Given the description of an element on the screen output the (x, y) to click on. 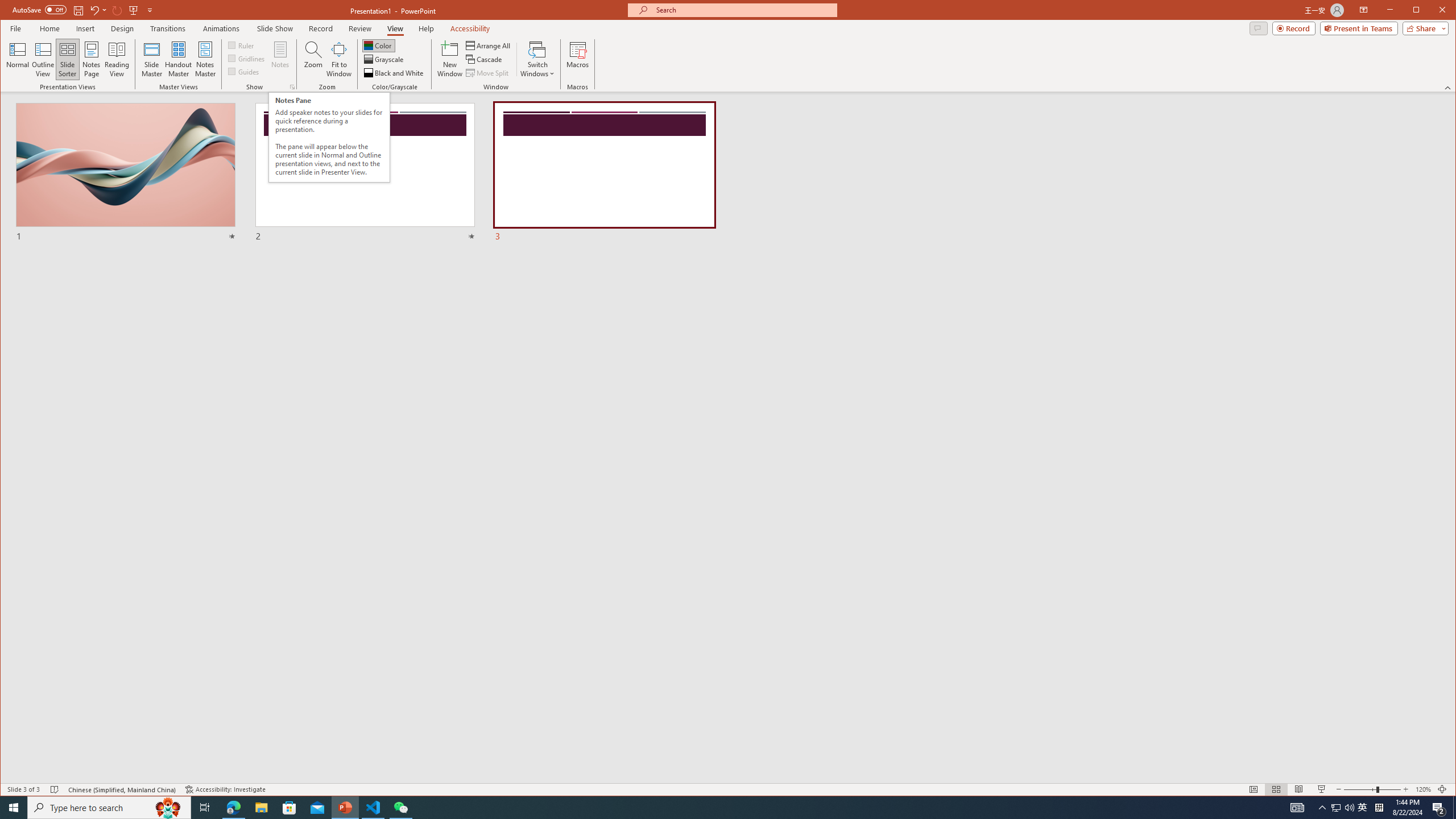
Slide Master (151, 59)
User Promoted Notification Area (1342, 807)
Fit to Window (338, 59)
Ruler (241, 44)
Notification Chevron (1322, 807)
Type here to search (108, 807)
Gridlines (246, 57)
AutomationID: 4105 (1297, 807)
